Given the description of an element on the screen output the (x, y) to click on. 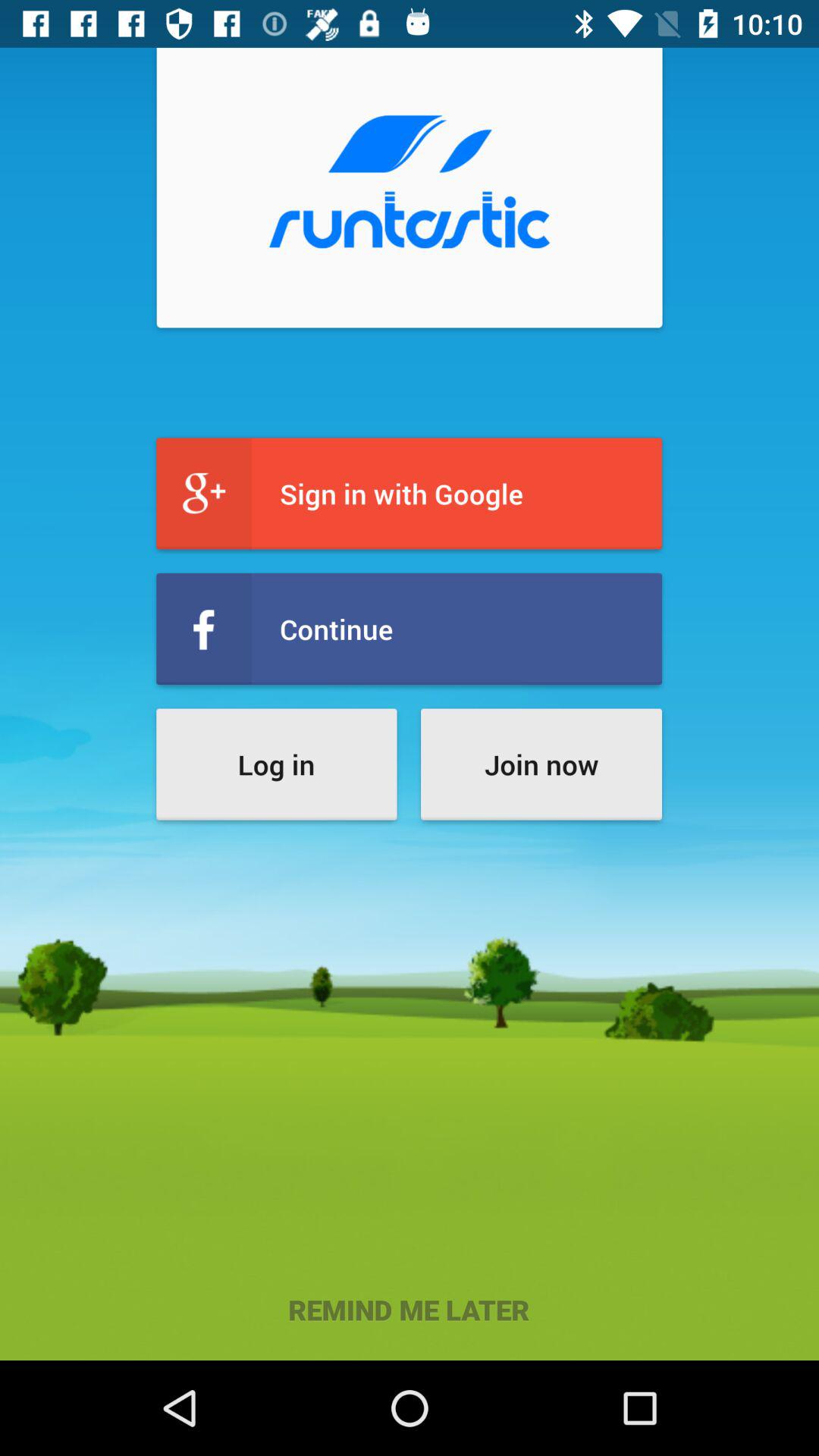
turn on the item next to the join now icon (276, 764)
